Given the description of an element on the screen output the (x, y) to click on. 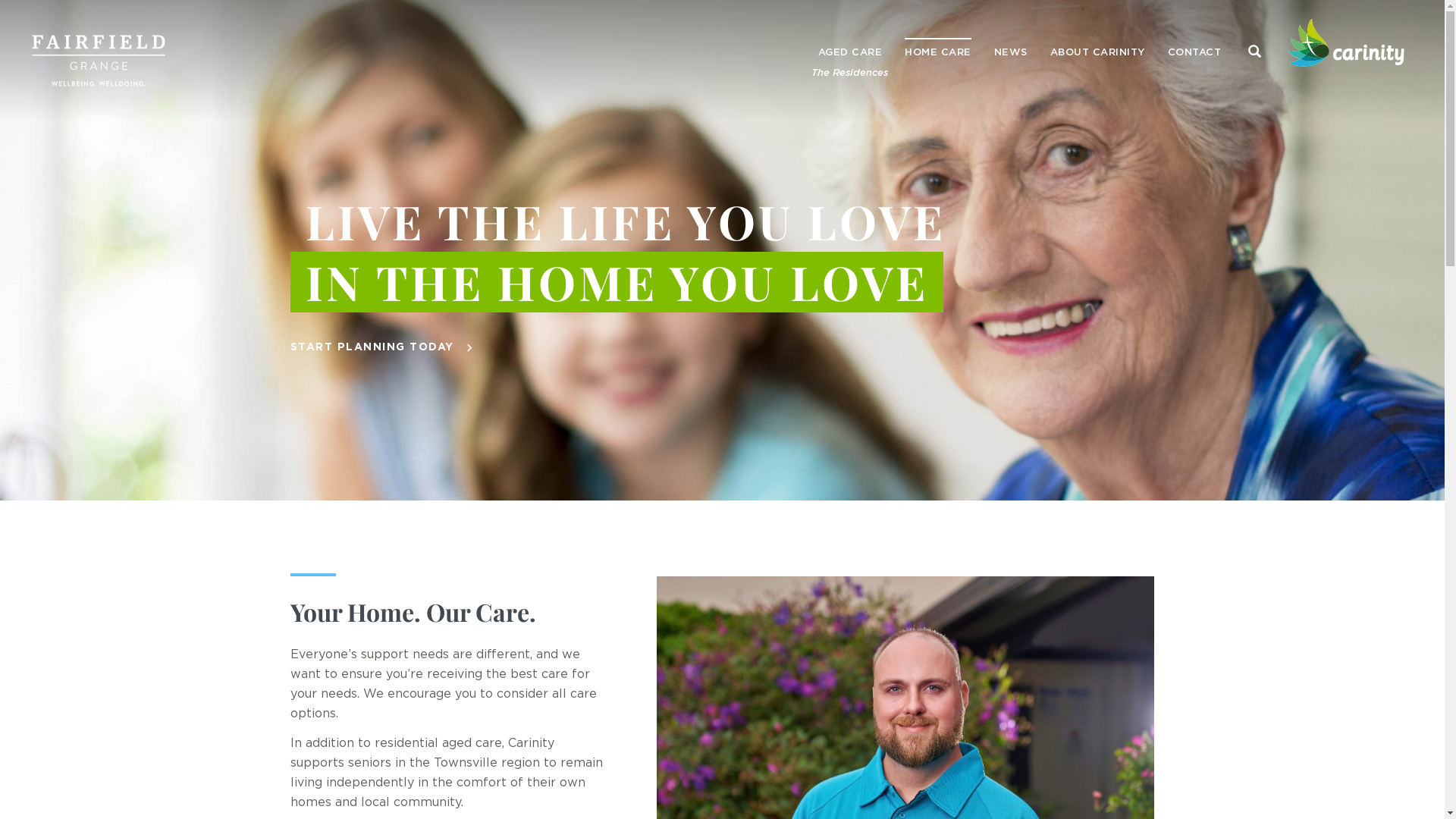
CONTACT Element type: text (1193, 52)
NEWS Element type: text (1010, 52)
AGED CARE Element type: text (850, 52)
ABOUT CARINITY Element type: text (1097, 52)
START PLANNING TODAY Element type: text (371, 347)
HOME CARE Element type: text (937, 52)
